Given the description of an element on the screen output the (x, y) to click on. 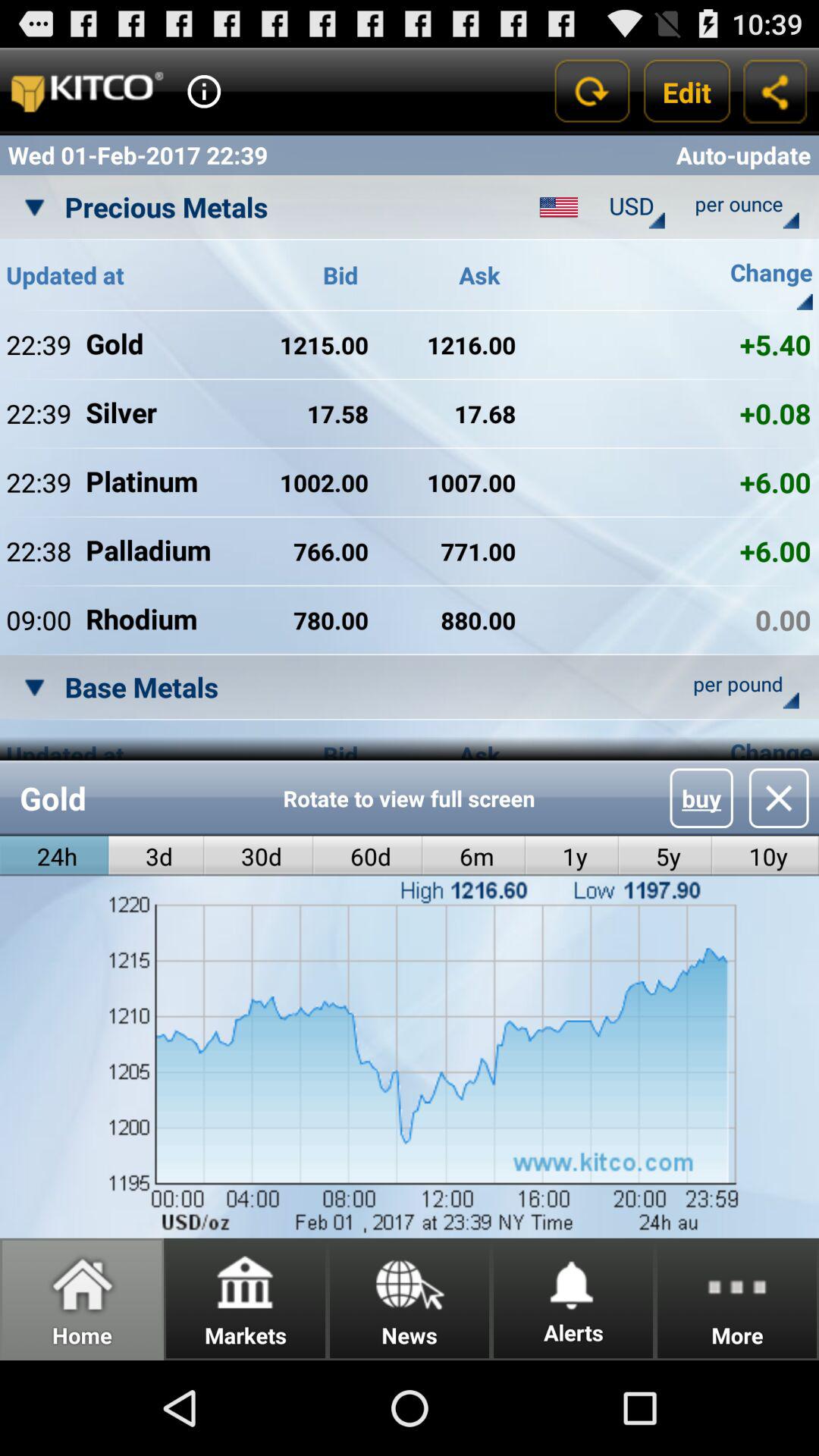
choose the icon next to the 24h icon (156, 856)
